Given the description of an element on the screen output the (x, y) to click on. 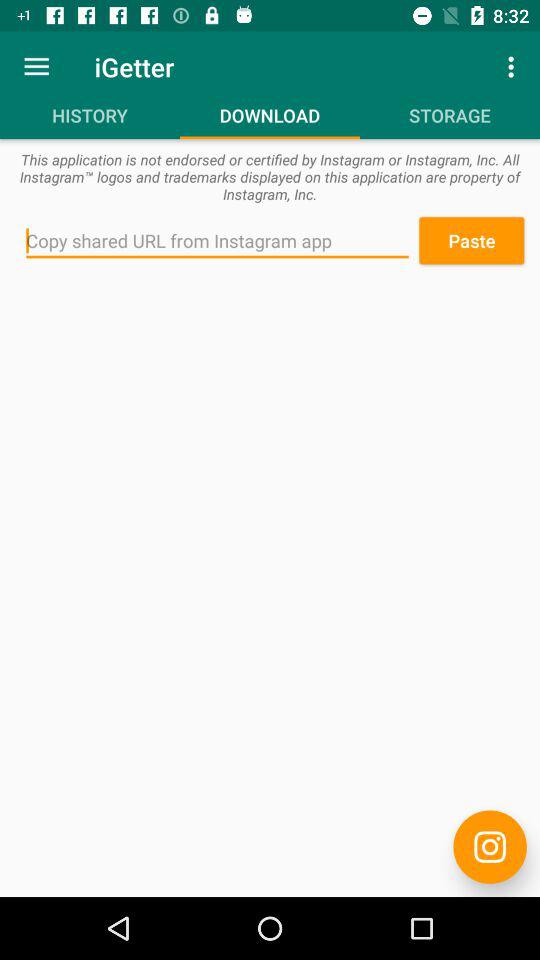
search for (217, 241)
